Given the description of an element on the screen output the (x, y) to click on. 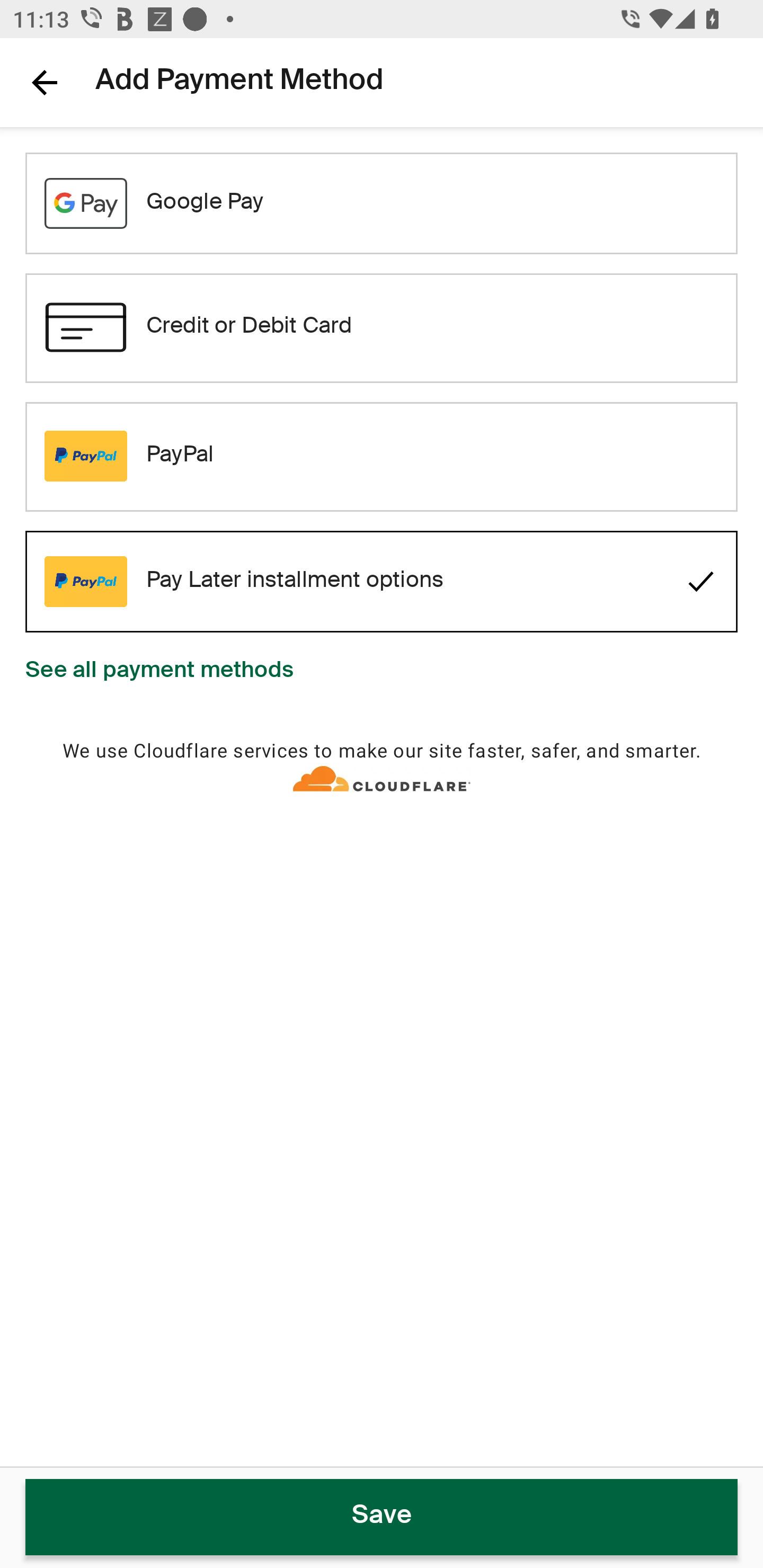
Navigate up (44, 82)
Google Pay (381, 203)
Credit or Debit Card (381, 327)
PayPal (381, 456)
Pay Later installment options (381, 581)
See all payment methods (159, 671)
Save (381, 1516)
